Given the description of an element on the screen output the (x, y) to click on. 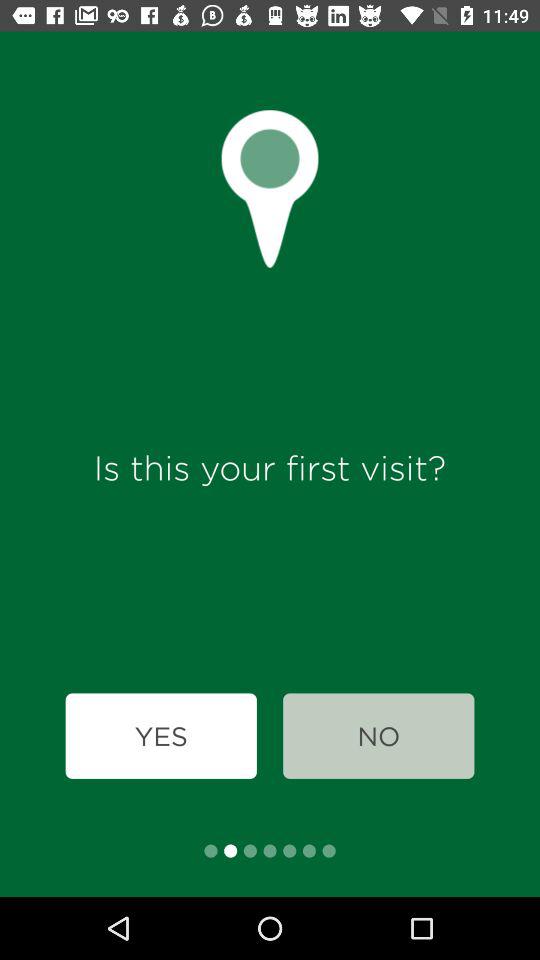
jump to the no item (378, 735)
